Given the description of an element on the screen output the (x, y) to click on. 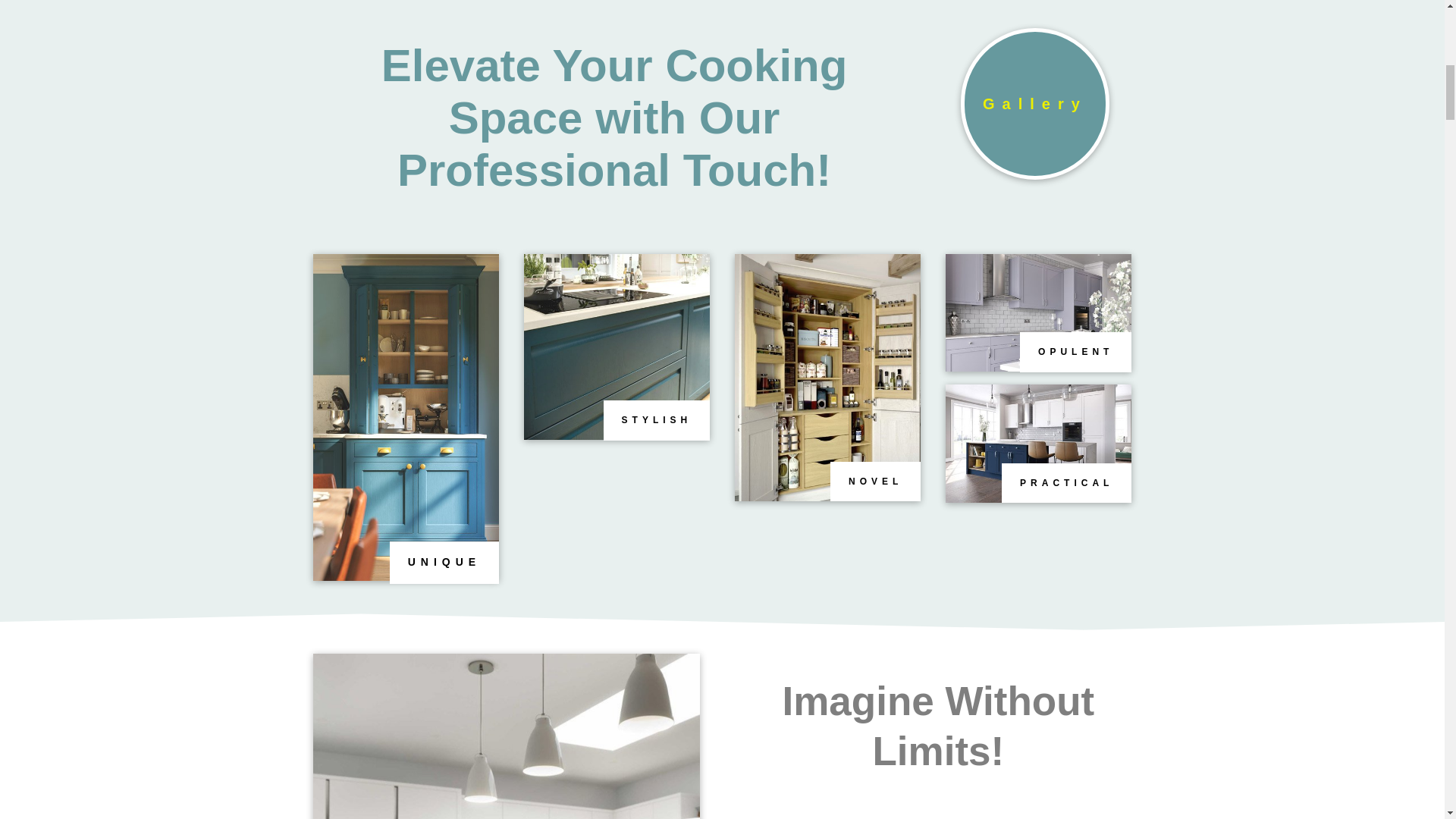
NOVEL (874, 481)
novel (1038, 312)
PRACTICAL (1066, 482)
opulence (406, 416)
Unique (1038, 443)
Stylish (617, 346)
Gallery (1034, 103)
OPULENT (1075, 351)
STYLISH (657, 419)
pantry (828, 377)
UNIQUE (444, 562)
fitted-kitchens (505, 736)
